Given the description of an element on the screen output the (x, y) to click on. 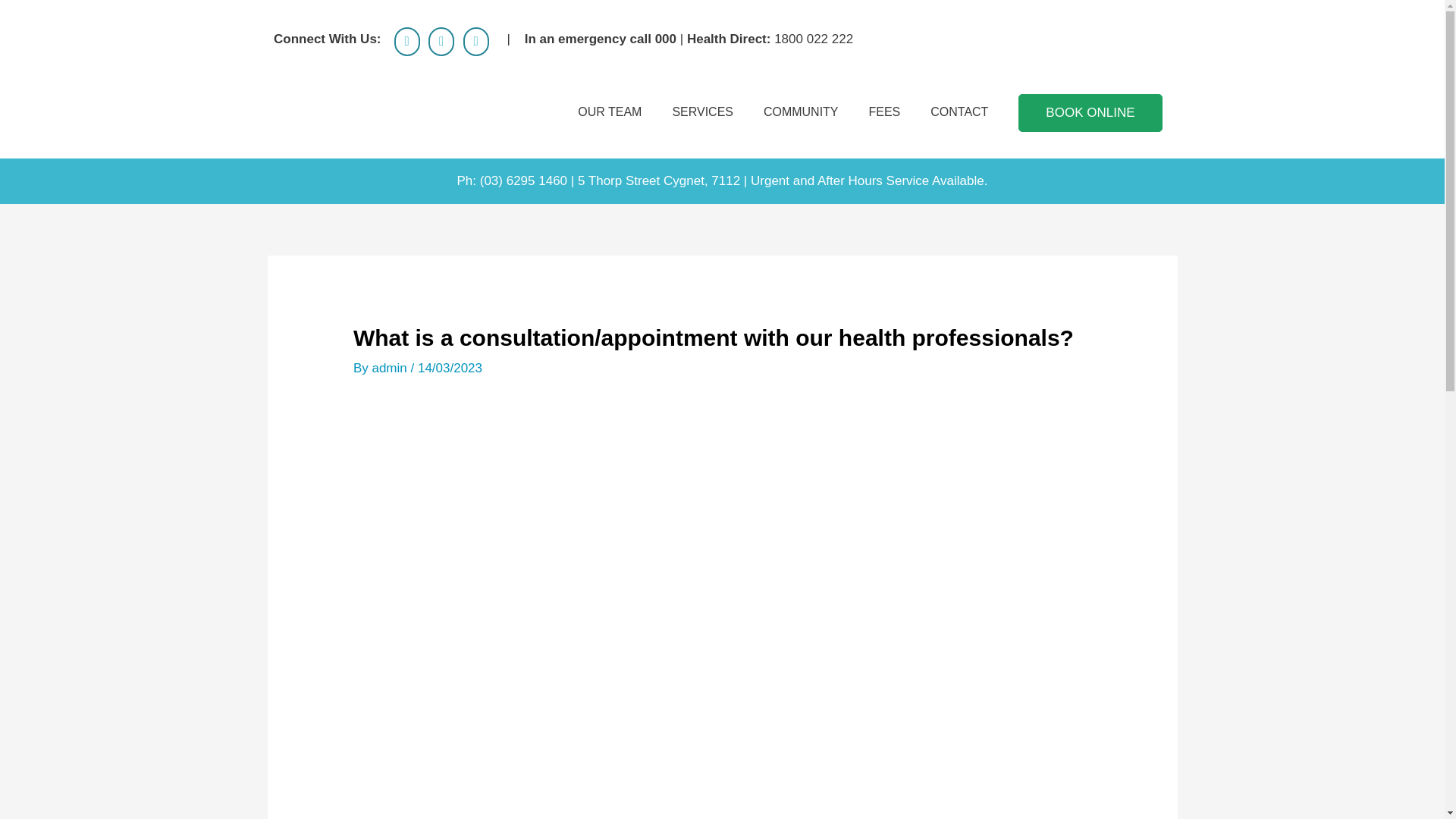
BOOK ONLINE (1089, 112)
COMMUNITY (800, 111)
SERVICES (702, 111)
View all posts by admin (390, 368)
CONTACT (959, 111)
BOOK ONLINE (1089, 112)
Phone Cygnet Family Practice (476, 41)
FEES (884, 111)
admin (390, 368)
OUR TEAM (609, 111)
